Given the description of an element on the screen output the (x, y) to click on. 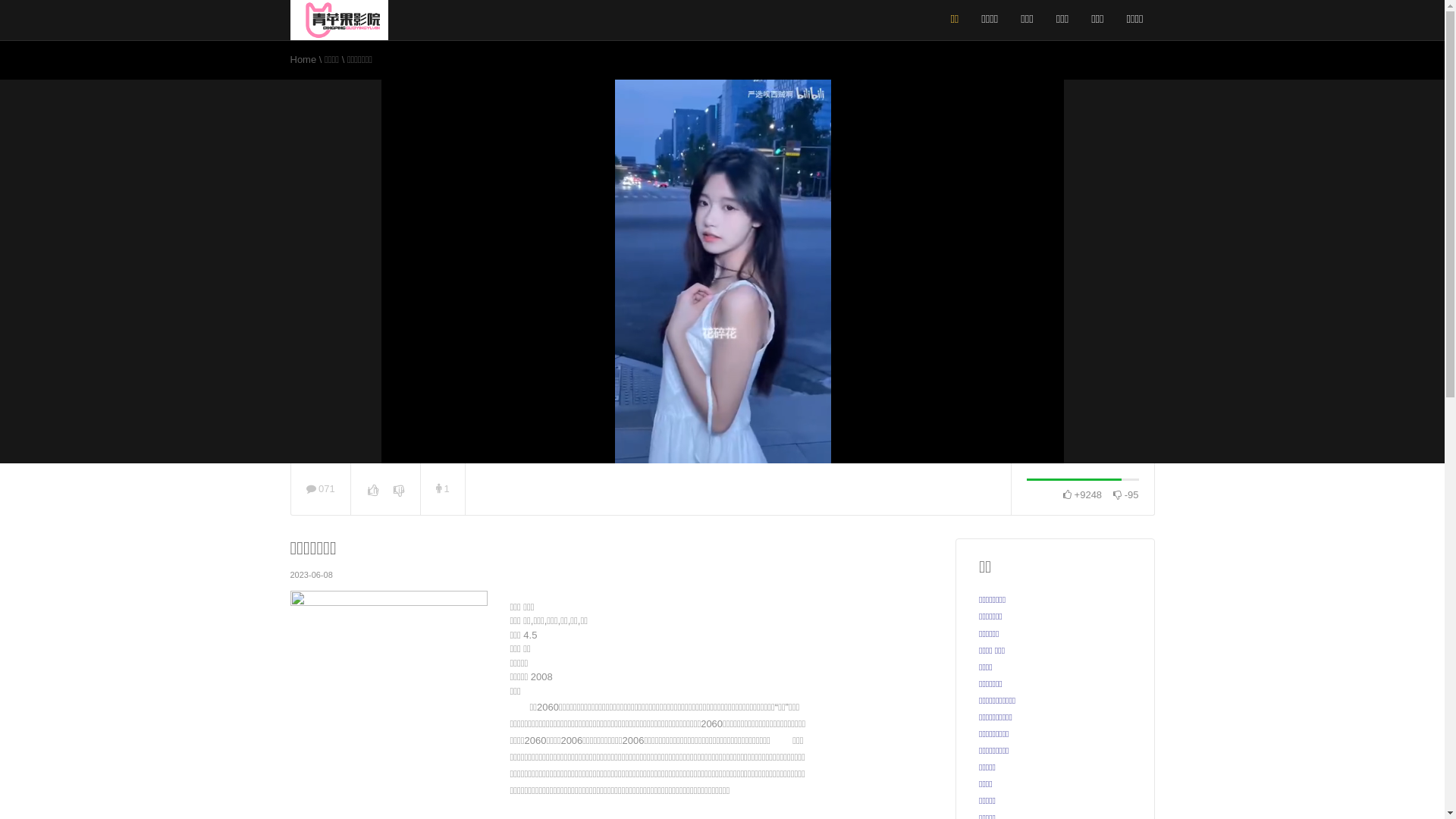
Like Element type: hover (372, 489)
071 Element type: text (320, 488)
1 Element type: text (442, 488)
Home Element type: text (303, 59)
Like Element type: hover (397, 489)
